Given the description of an element on the screen output the (x, y) to click on. 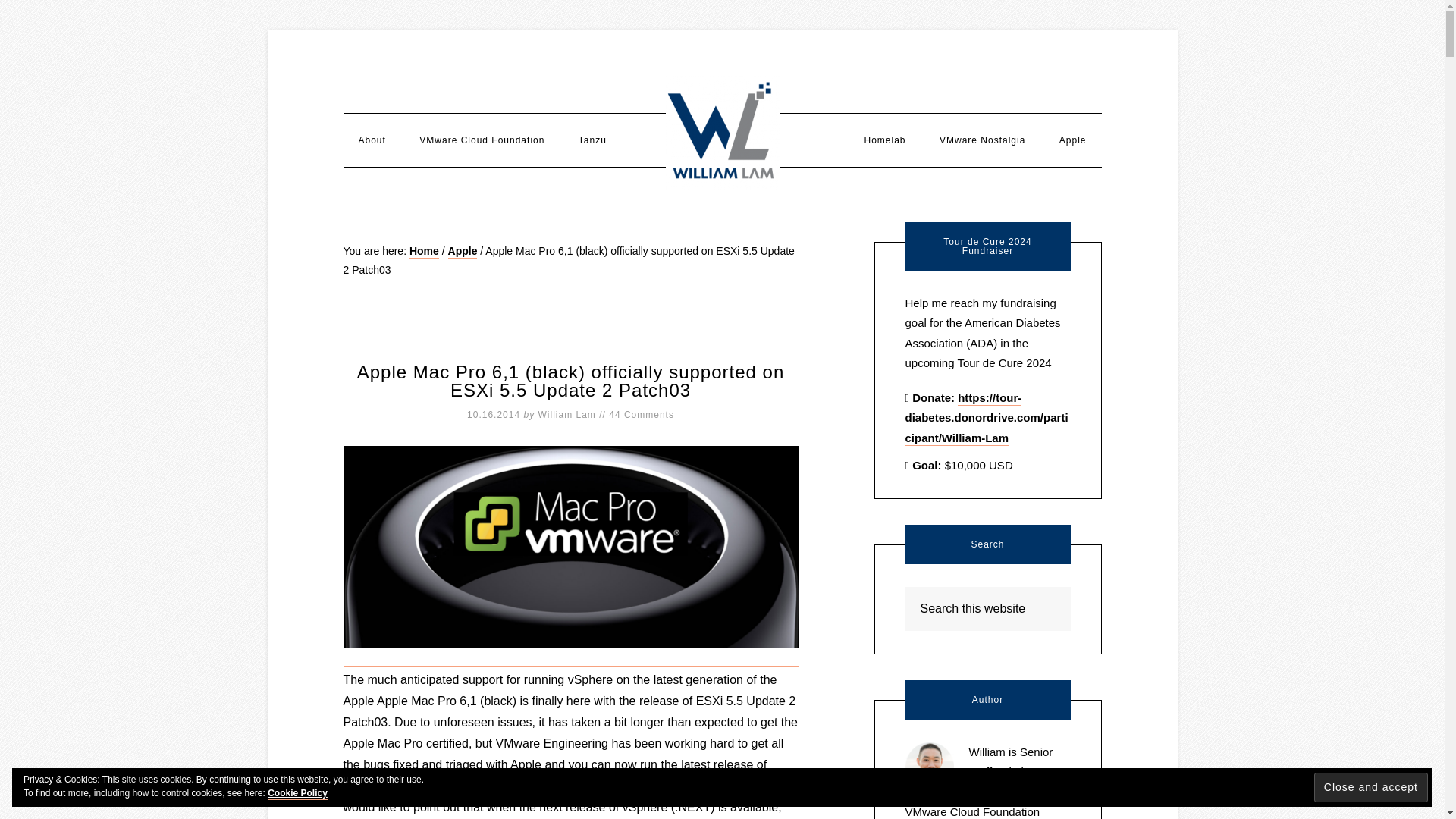
Tanzu (592, 140)
44 Comments (641, 414)
Apple (462, 251)
Apple (1072, 140)
Home (424, 251)
William Lam (566, 414)
Close and accept (1371, 787)
WilliamLam.com (721, 132)
